Given the description of an element on the screen output the (x, y) to click on. 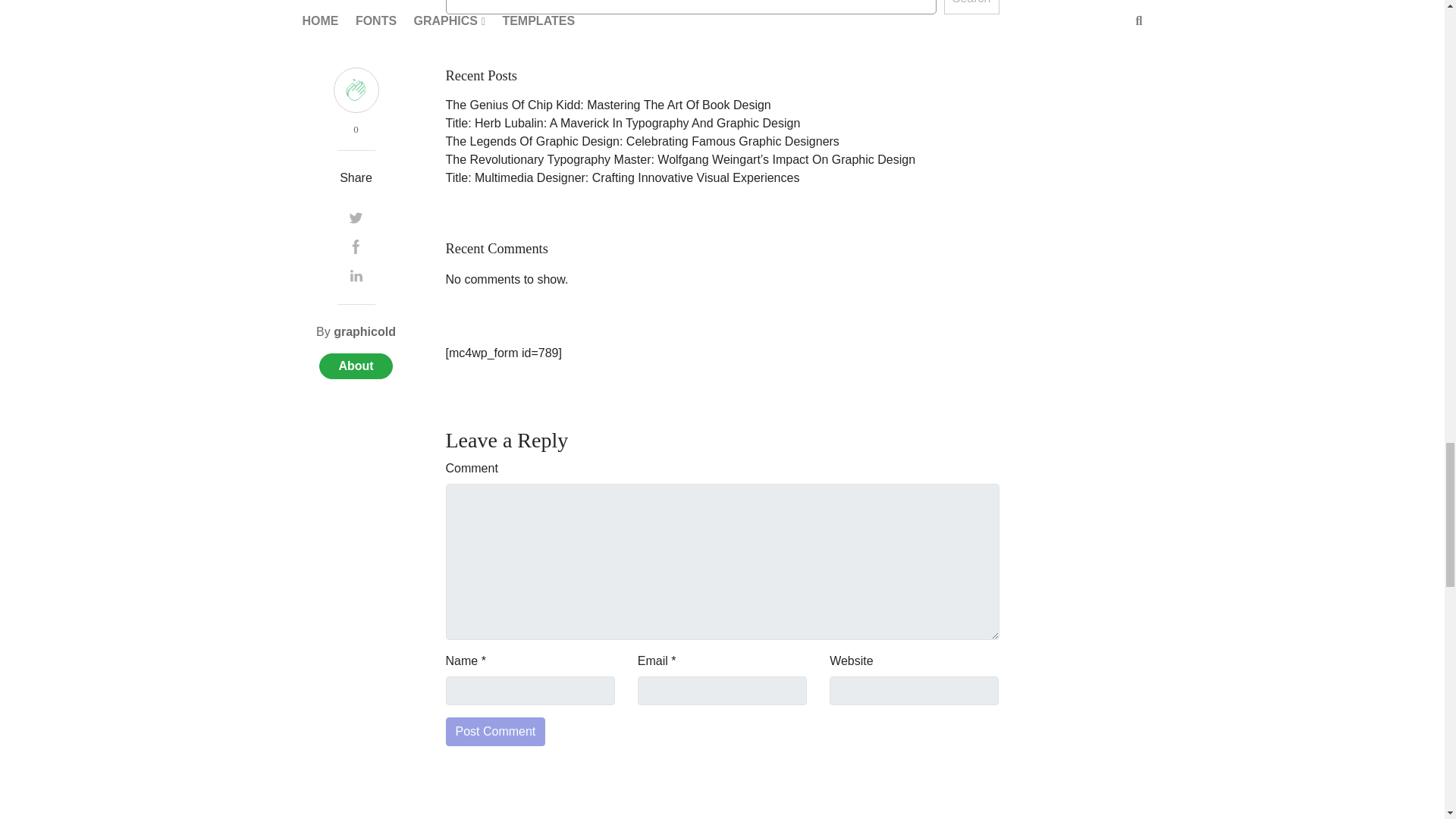
The Genius Of Chip Kidd: Mastering The Art Of Book Design (608, 104)
Post Comment (495, 731)
Post Comment (495, 731)
Search (970, 7)
